Given the description of an element on the screen output the (x, y) to click on. 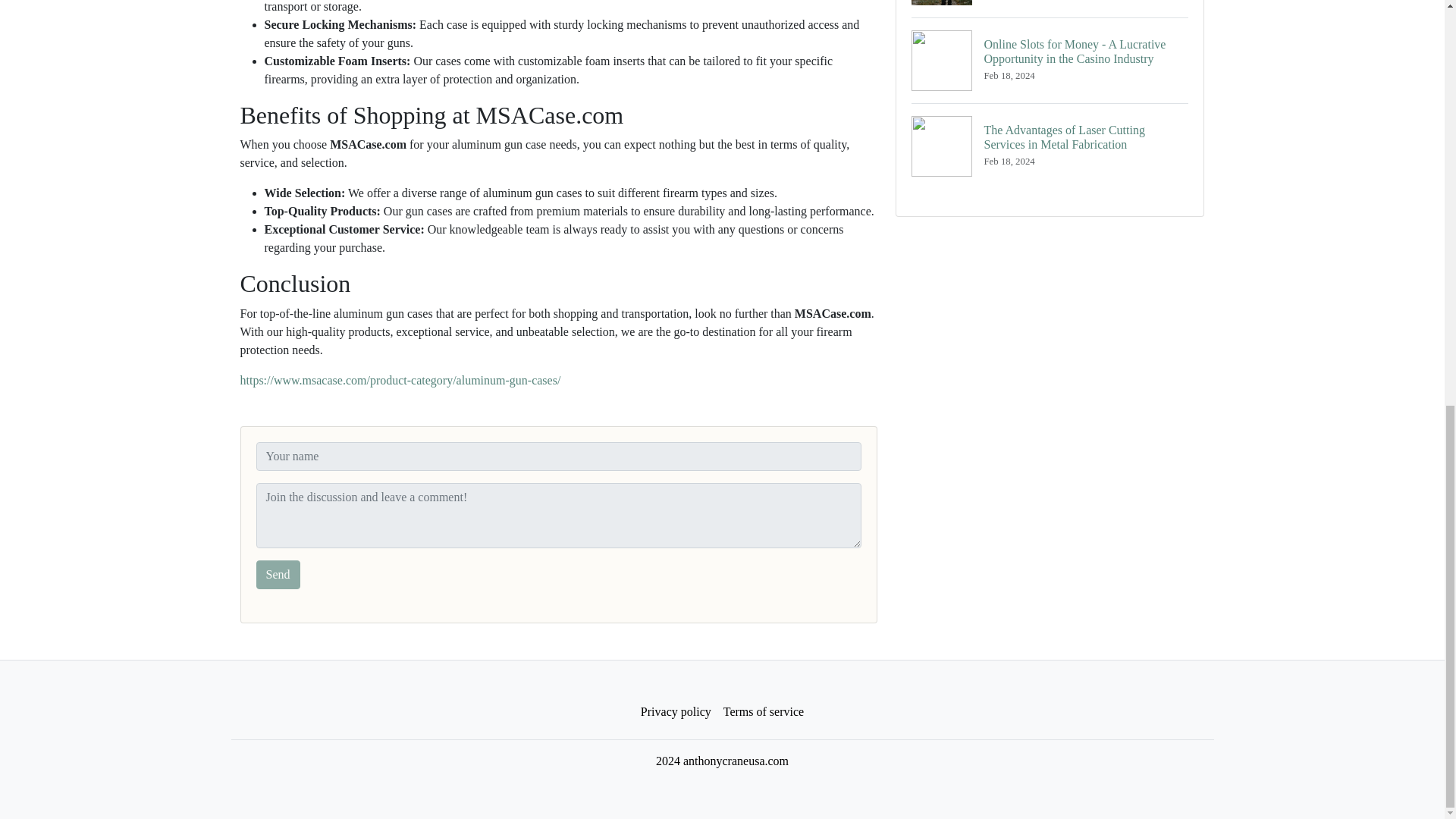
Send (277, 574)
Send (277, 574)
Terms of service (763, 711)
Privacy policy (675, 711)
